Given the description of an element on the screen output the (x, y) to click on. 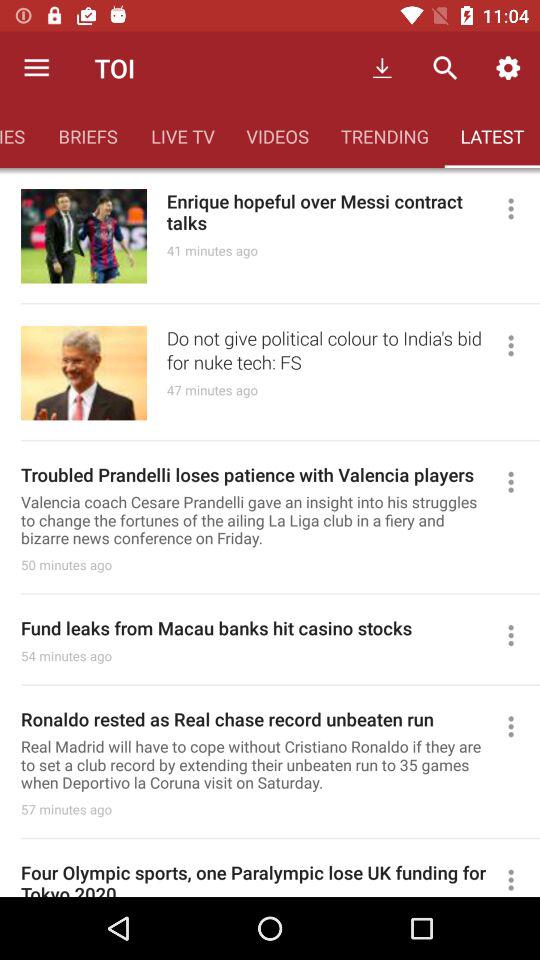
select options for article (519, 635)
